Given the description of an element on the screen output the (x, y) to click on. 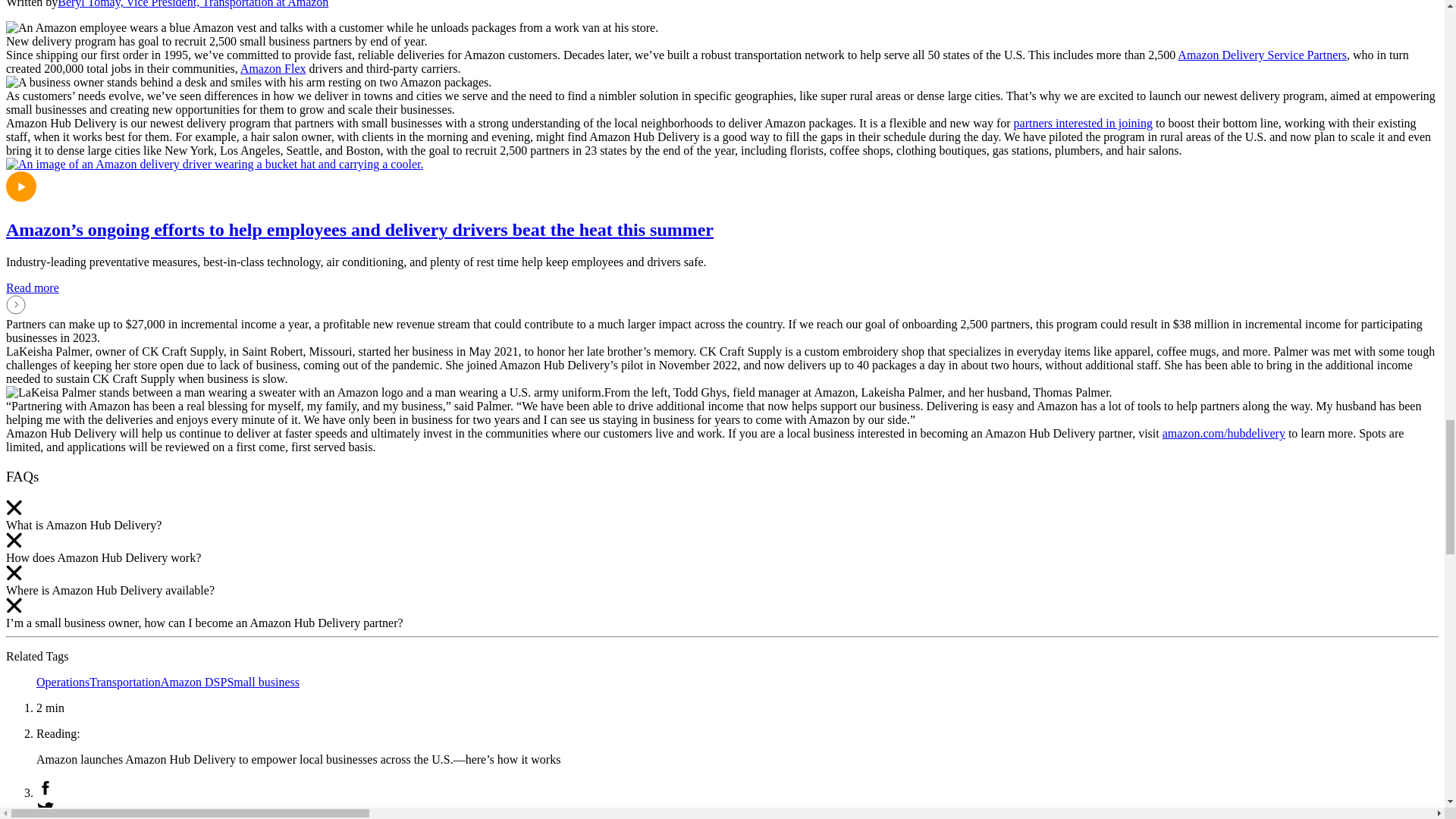
Facebook Share (737, 789)
Twitter Share (737, 809)
